Given the description of an element on the screen output the (x, y) to click on. 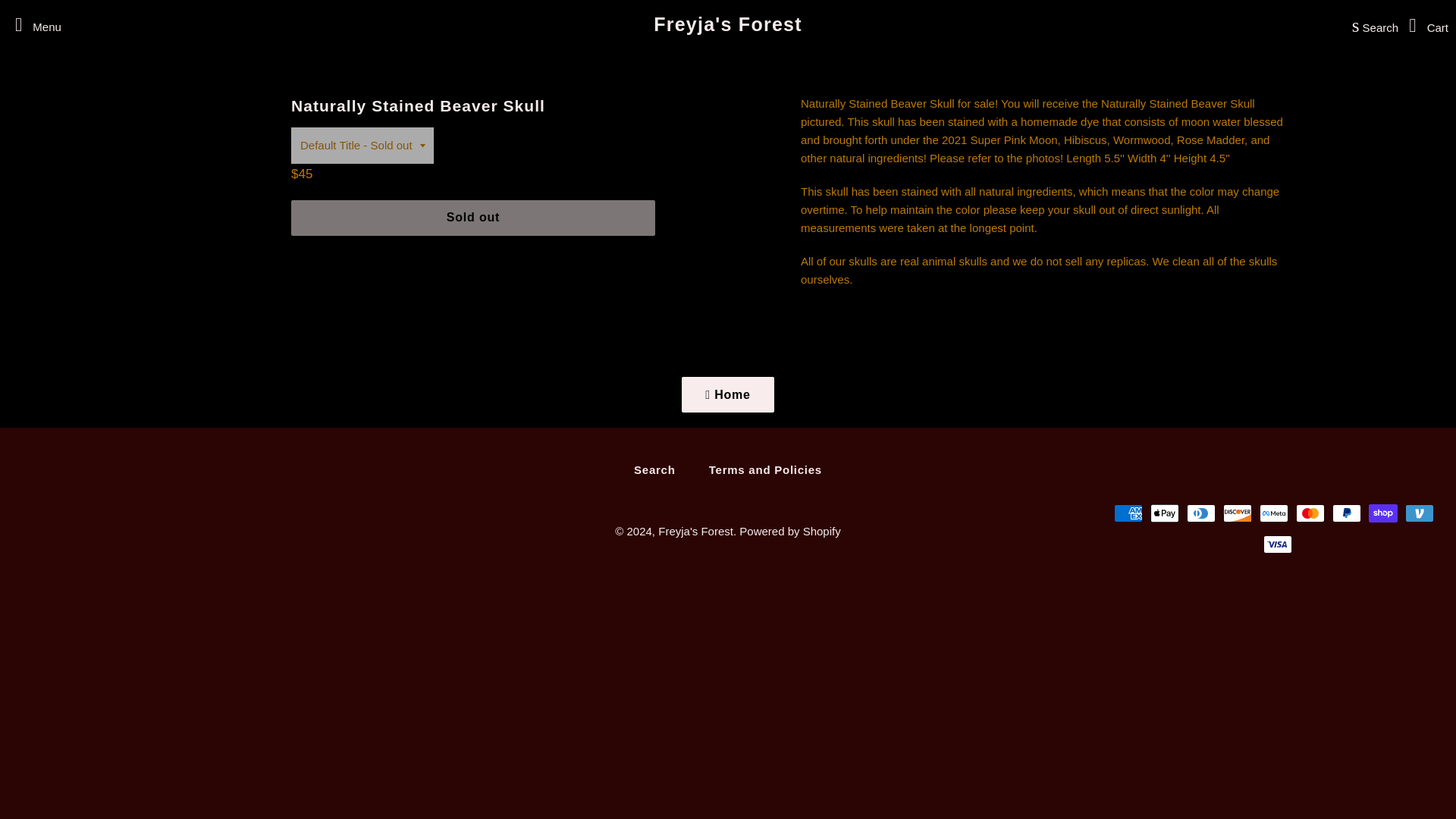
Sold out (473, 217)
Freyja's Forest (695, 530)
Home (727, 394)
Search (1370, 23)
Shop Pay (1382, 513)
Visa (1277, 544)
Venmo (1419, 513)
Search (654, 469)
Apple Pay (1164, 513)
Discover (1237, 513)
